Given the description of an element on the screen output the (x, y) to click on. 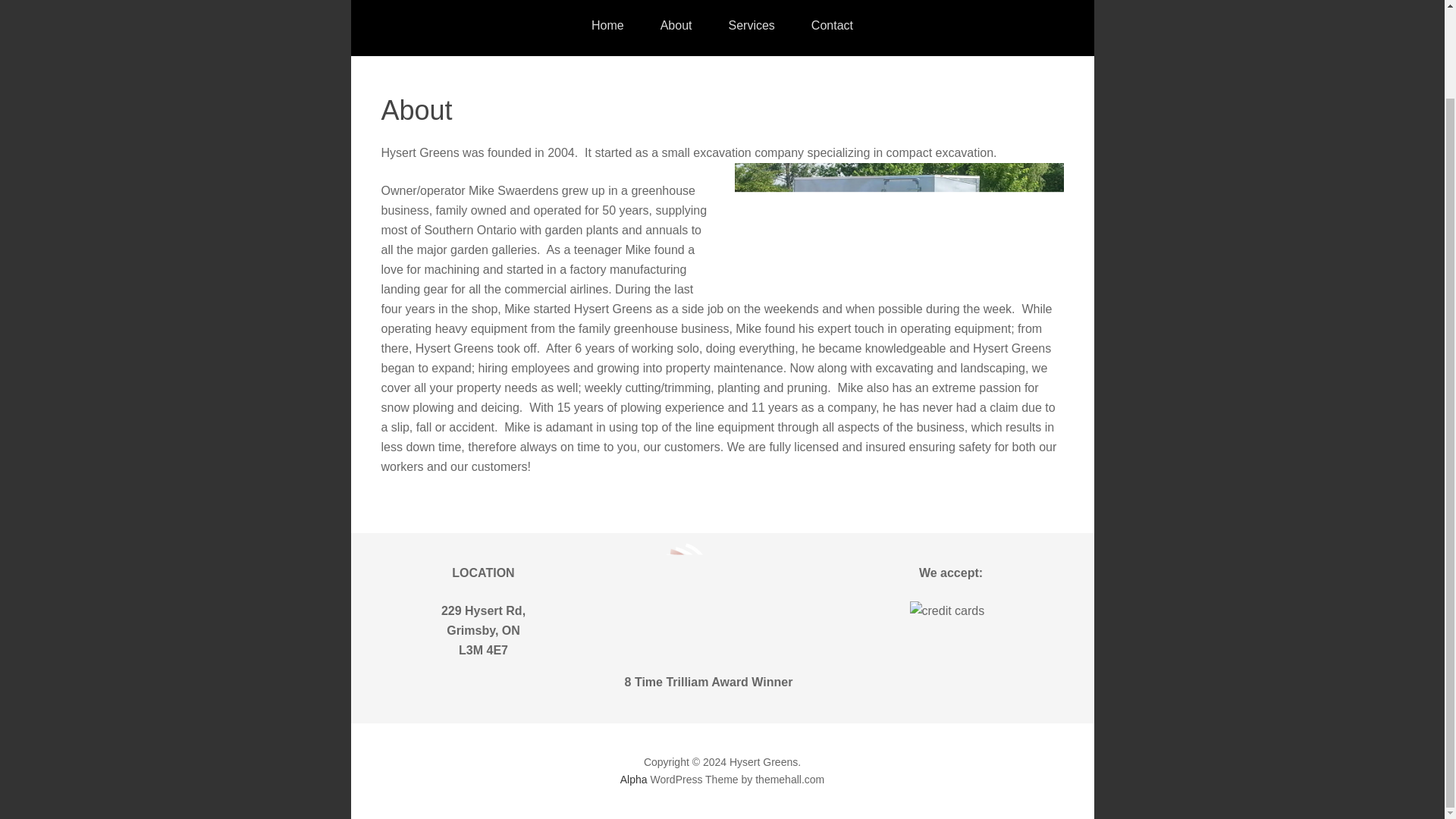
Contact (831, 28)
About (676, 28)
Home (607, 28)
Services (751, 28)
Alpha WordPress Theme (633, 779)
Alpha (633, 779)
